Given the description of an element on the screen output the (x, y) to click on. 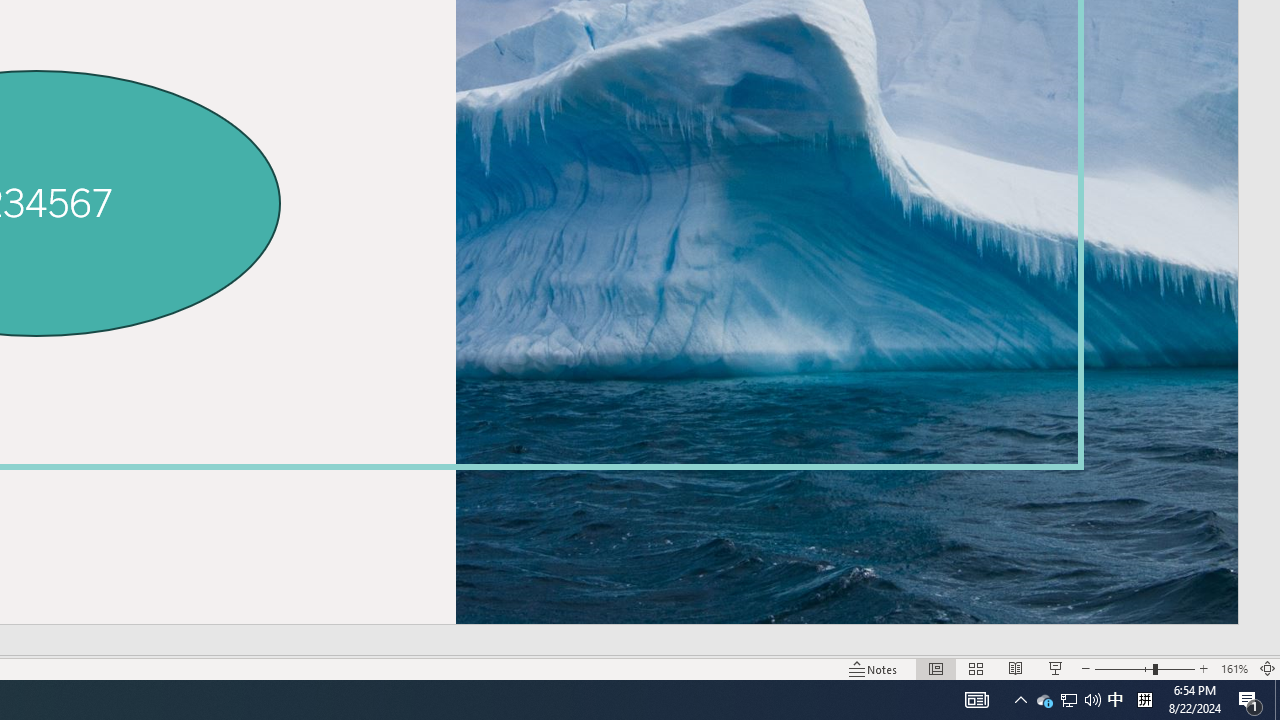
Zoom 161% (1234, 668)
